Given the description of an element on the screen output the (x, y) to click on. 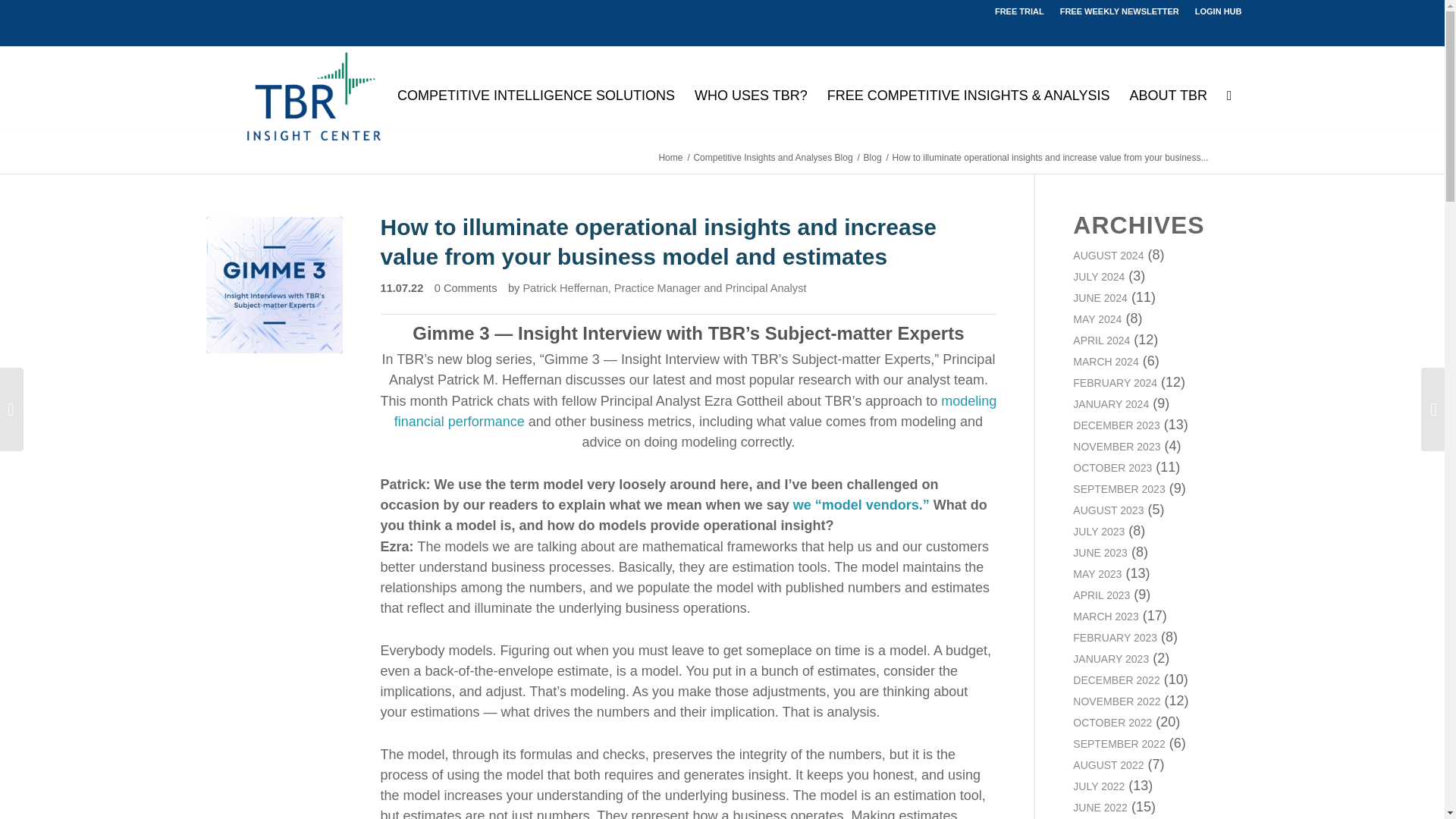
Blog (872, 157)
TBR (670, 157)
Gimme 3 Insight Interviews with TBR's Subject-matter Experts (274, 284)
Competitive Insights and Analyses Blog (772, 157)
FREE WEEKLY NEWSLETTER (1119, 11)
COMPETITIVE INTELLIGENCE SOLUTIONS (535, 94)
FREE TRIAL (1018, 11)
0 Comments (465, 287)
WHO USES TBR? (750, 94)
Home (670, 157)
